Given the description of an element on the screen output the (x, y) to click on. 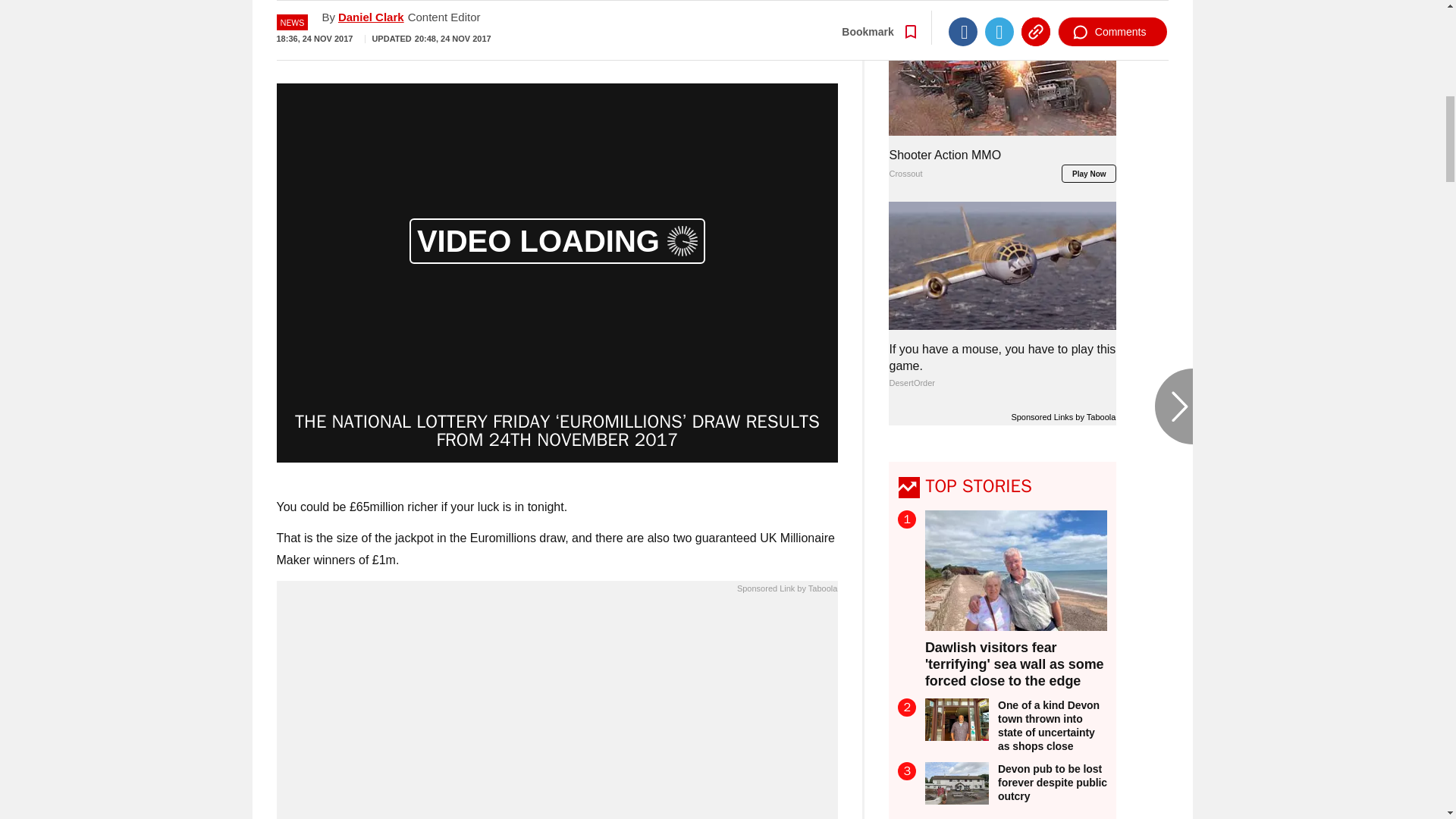
Go (730, 34)
